Given the description of an element on the screen output the (x, y) to click on. 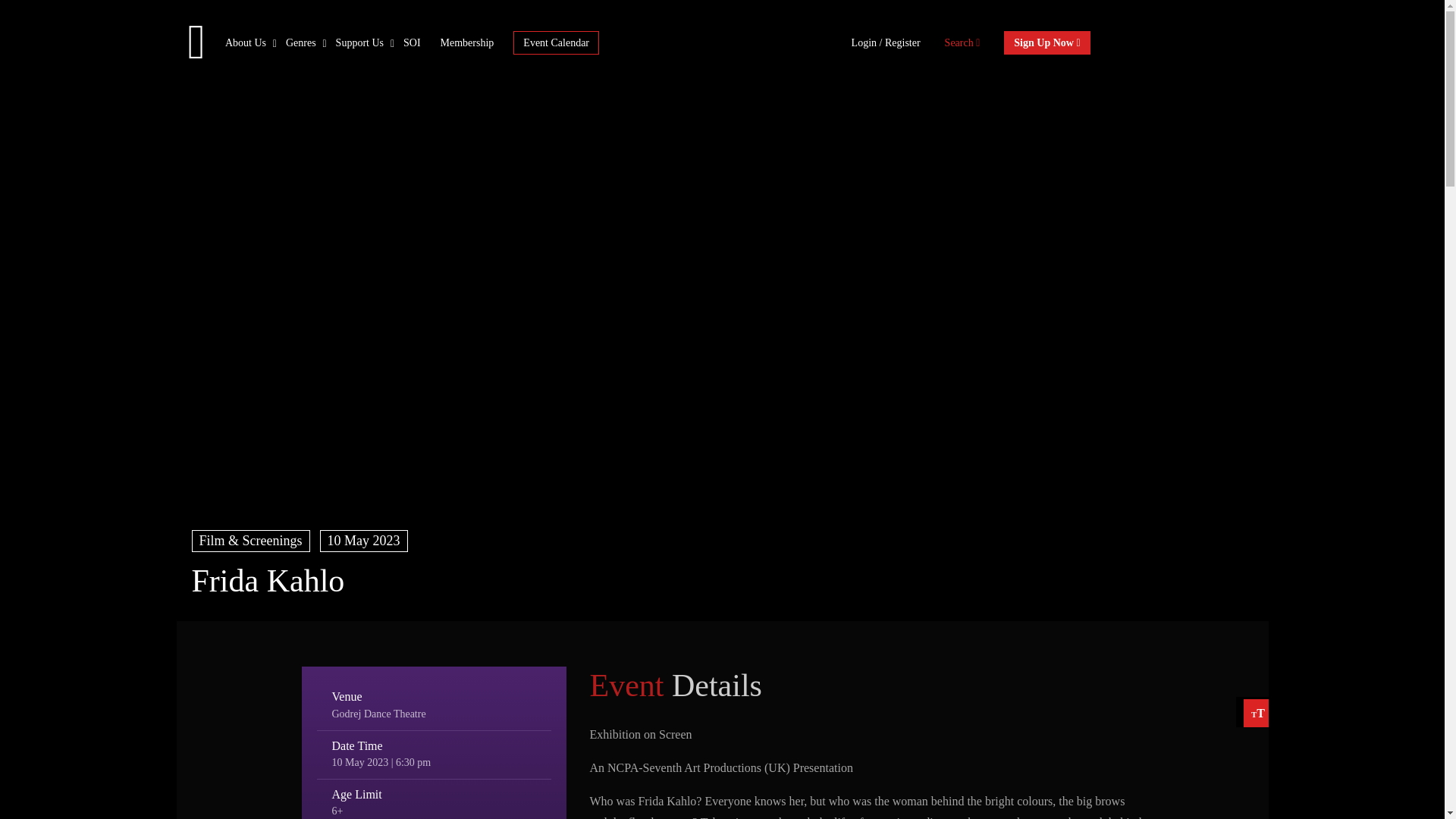
Genres (300, 41)
Membership (468, 41)
Membership (468, 41)
Event Calendar (555, 42)
About Us (245, 41)
Register (902, 41)
Sign Up Now (1046, 42)
Search (961, 41)
Login (865, 41)
Support Us (360, 41)
